Given the description of an element on the screen output the (x, y) to click on. 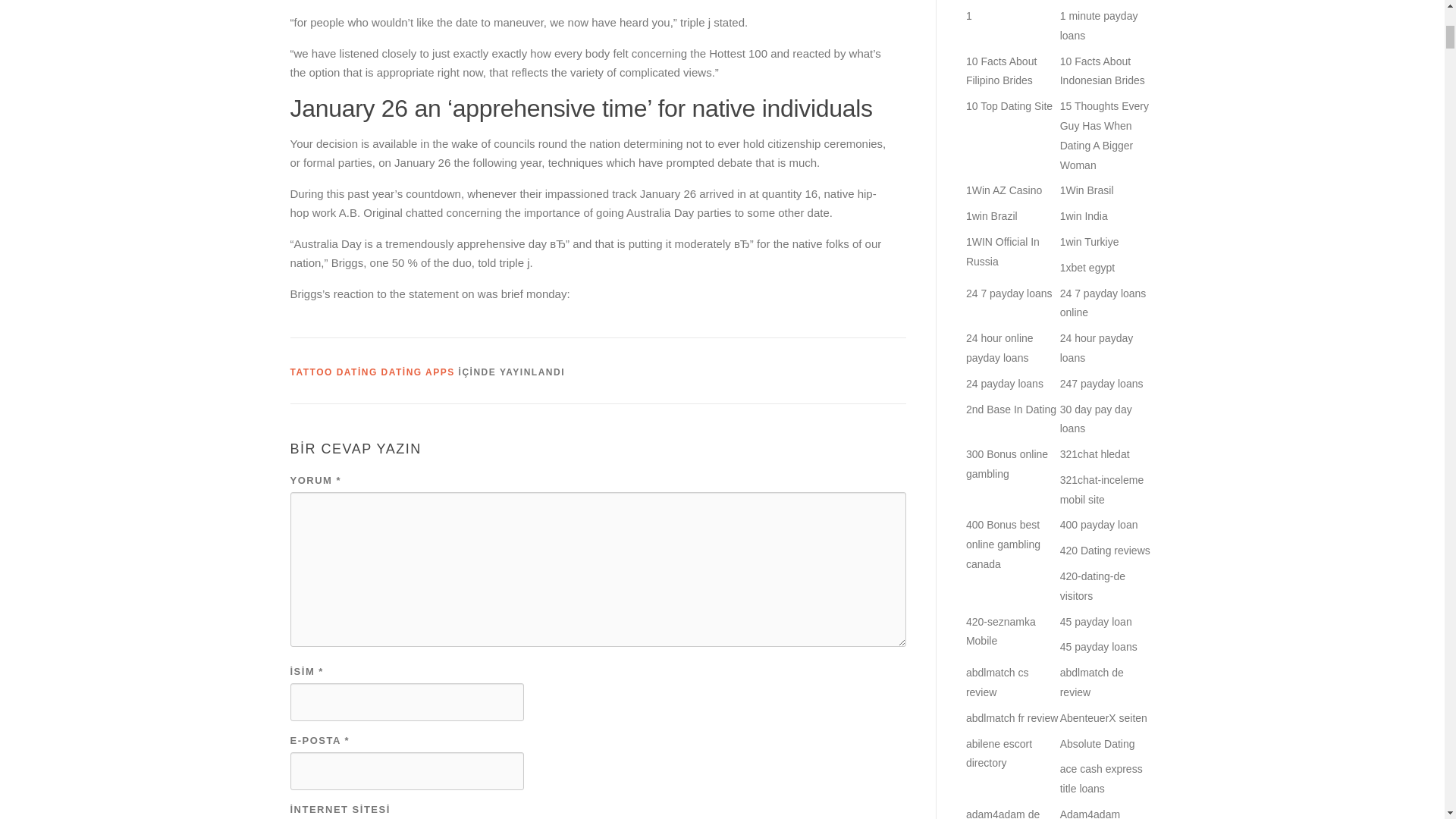
TATTOO DATING DATING APPS (371, 371)
